Given the description of an element on the screen output the (x, y) to click on. 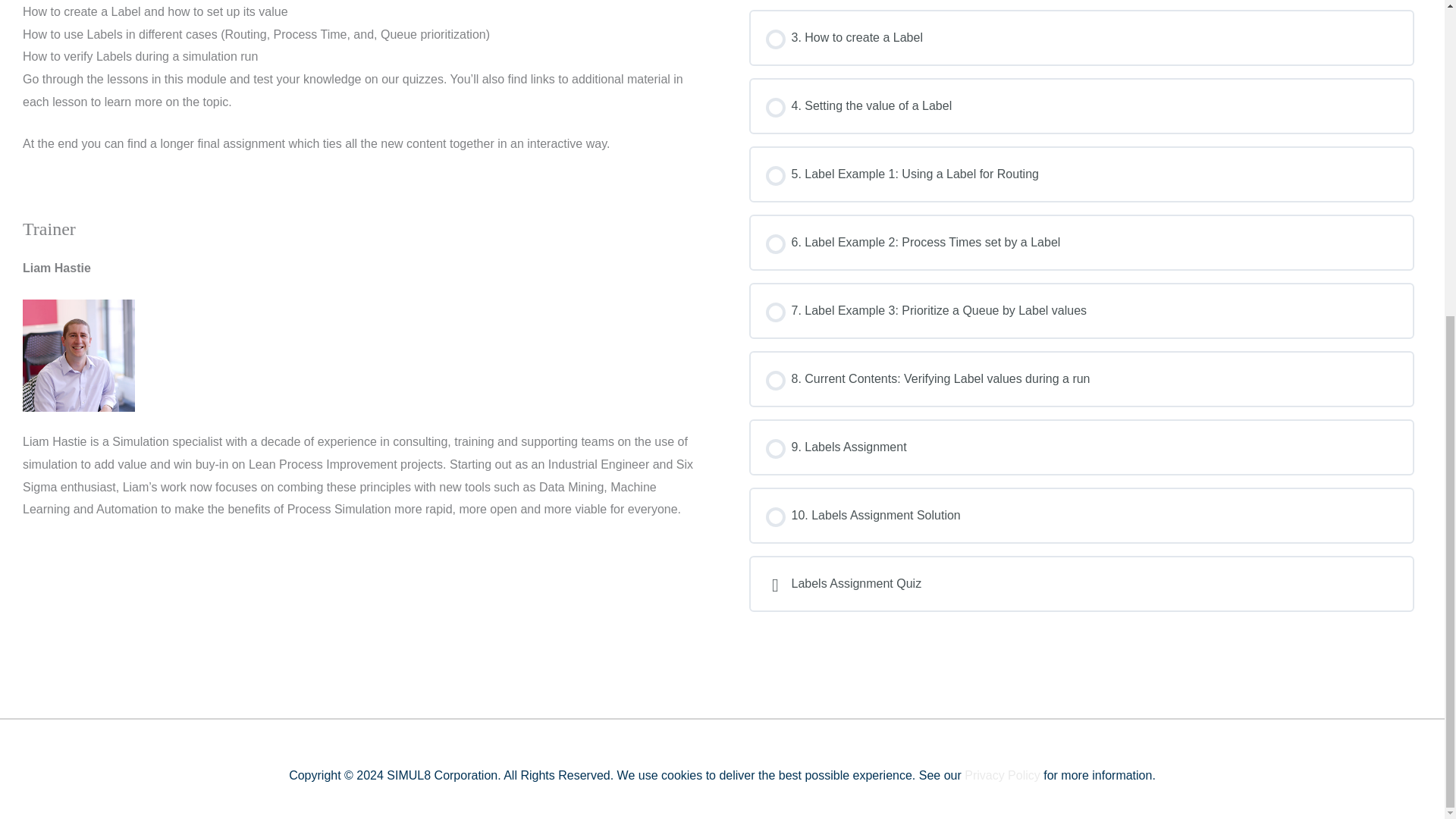
7. Label Example 3: Prioritize a Queue by Label values (1081, 310)
8. Current Contents: Verifying Label values during a run (1081, 378)
Privacy Policy (1002, 775)
10. Labels Assignment Solution (1081, 515)
5. Label Example 1: Using a Label for Routing (1081, 173)
Labels Assignment Quiz (1081, 583)
4. Setting the value of a Label (1081, 106)
6. Label Example 2: Process Times set by a Label (1081, 241)
3. How to create a Label (1081, 37)
9. Labels Assignment (1081, 446)
